Given the description of an element on the screen output the (x, y) to click on. 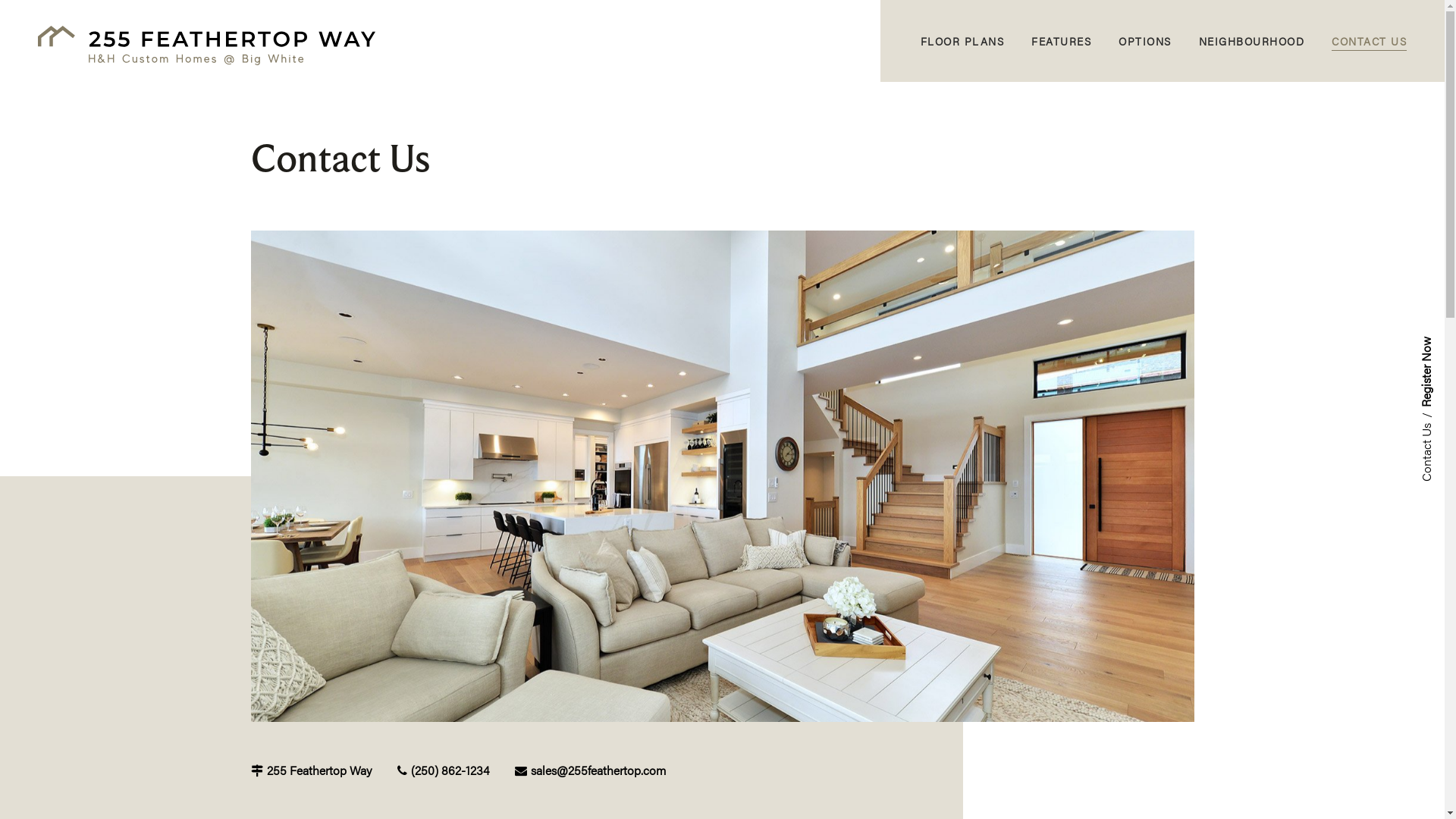
FLOOR PLANS Element type: text (962, 40)
sales@255feathertop.com Element type: text (589, 770)
CONTACT US Element type: text (1368, 40)
FEATURES Element type: text (1061, 40)
255 Feathertop Way Element type: text (310, 770)
NEIGHBOURHOOD Element type: text (1251, 40)
OPTIONS Element type: text (1144, 40)
(250) 862-1234 Element type: text (443, 770)
